Given the description of an element on the screen output the (x, y) to click on. 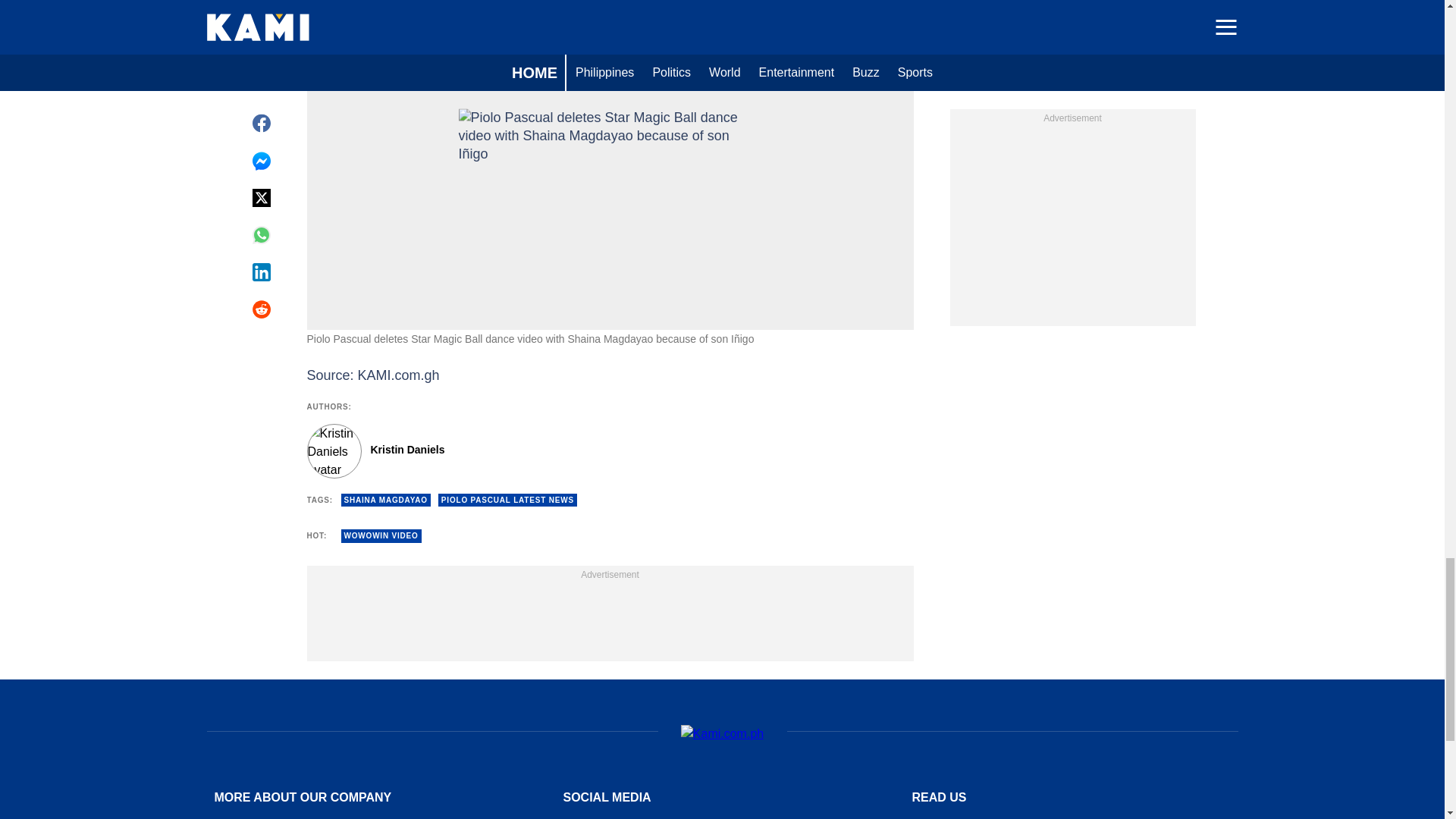
Author page (533, 451)
Expand image (895, 10)
